Given the description of an element on the screen output the (x, y) to click on. 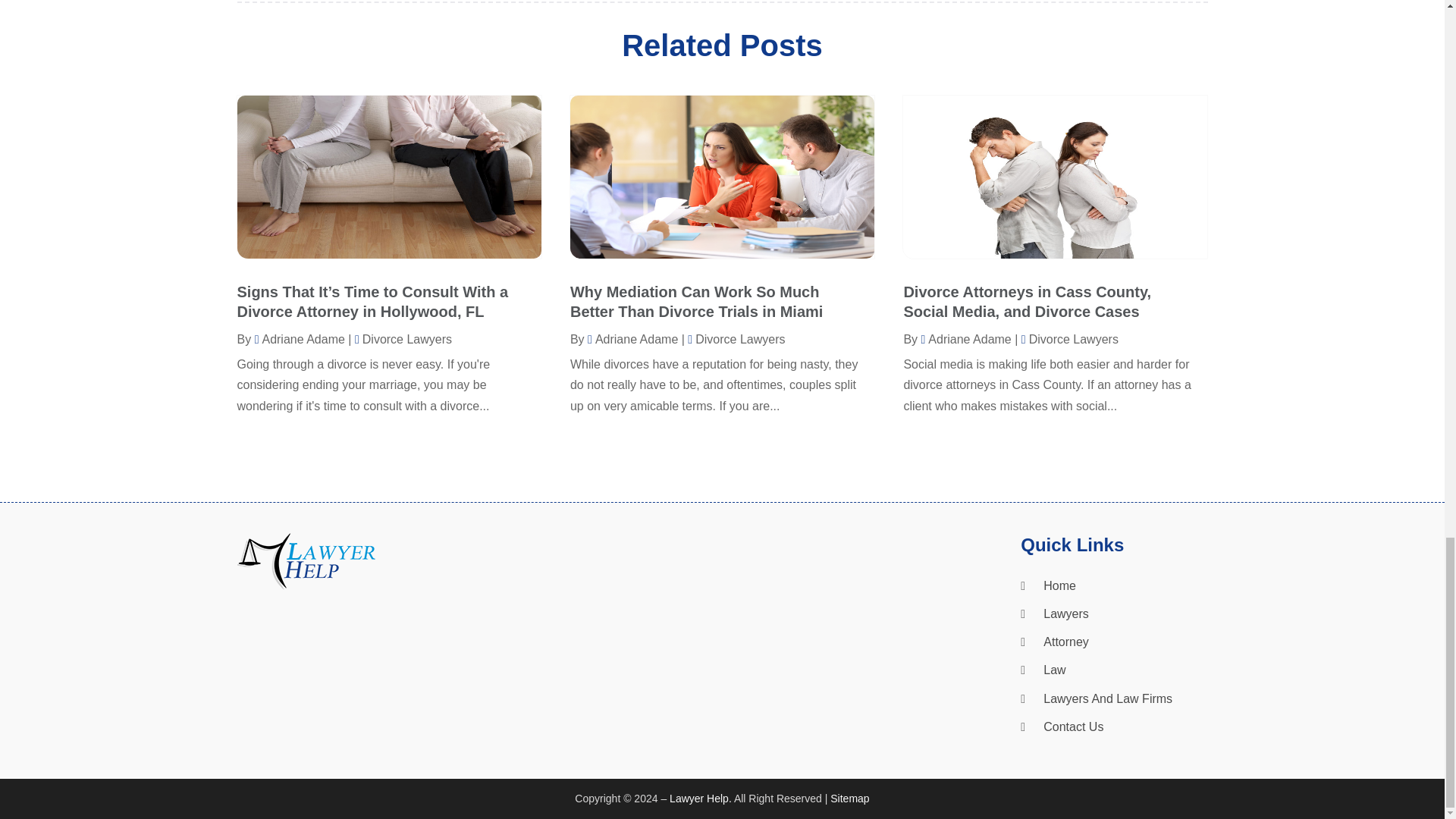
Posts by Adriane Adame (965, 338)
Lawyer Help - Footer Logo (304, 561)
Posts by Adriane Adame (299, 338)
Posts by Adriane Adame (633, 338)
